Given the description of an element on the screen output the (x, y) to click on. 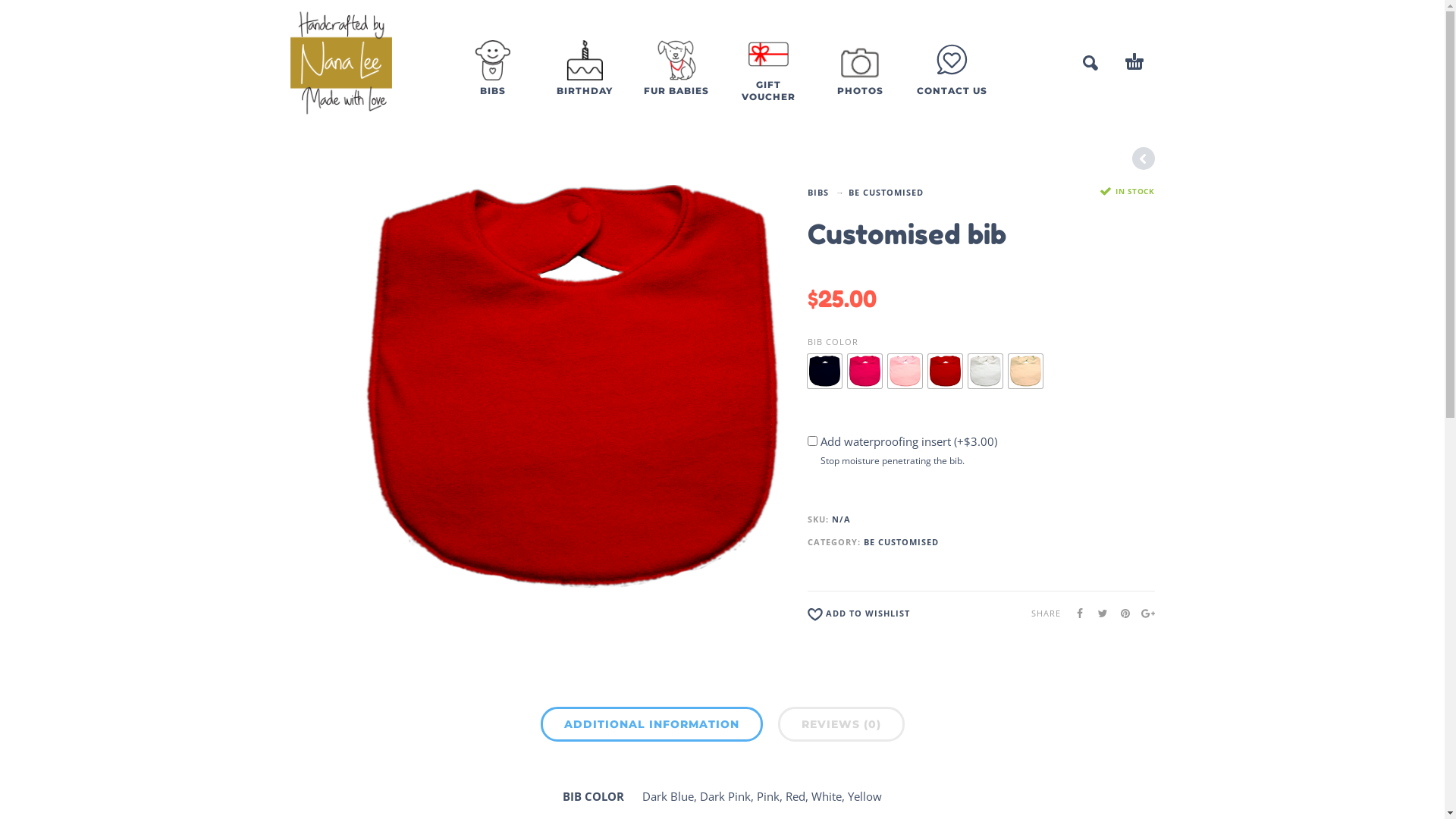
Share on Twitter Element type: hover (1096, 612)
Dark Pink Element type: hover (864, 371)
GIFT VOUCHER Element type: text (767, 80)
BIBS Element type: text (817, 192)
White Element type: hover (985, 371)
REVIEWS (0) Element type: text (841, 723)
Share on Google+ Element type: hover (1142, 612)
CONTACT US Element type: text (951, 88)
Pin on Pinterest Element type: hover (1119, 612)
FUR BABIES Element type: text (676, 80)
Yellow Element type: hover (1025, 371)
Red Element type: hover (945, 371)
Pink Element type: hover (905, 371)
BE CUSTOMISED Element type: text (900, 541)
Dark Blue Element type: hover (824, 371)
BIRTHDAY Element type: text (584, 80)
Share on Facebook Element type: hover (1074, 612)
BE CUSTOMISED Element type: text (885, 192)
ADD TO WISHLIST Element type: text (858, 615)
BIBS Element type: text (493, 80)
PHOTOS Element type: text (860, 80)
ADDITIONAL INFORMATION Element type: text (650, 723)
